Given the description of an element on the screen output the (x, y) to click on. 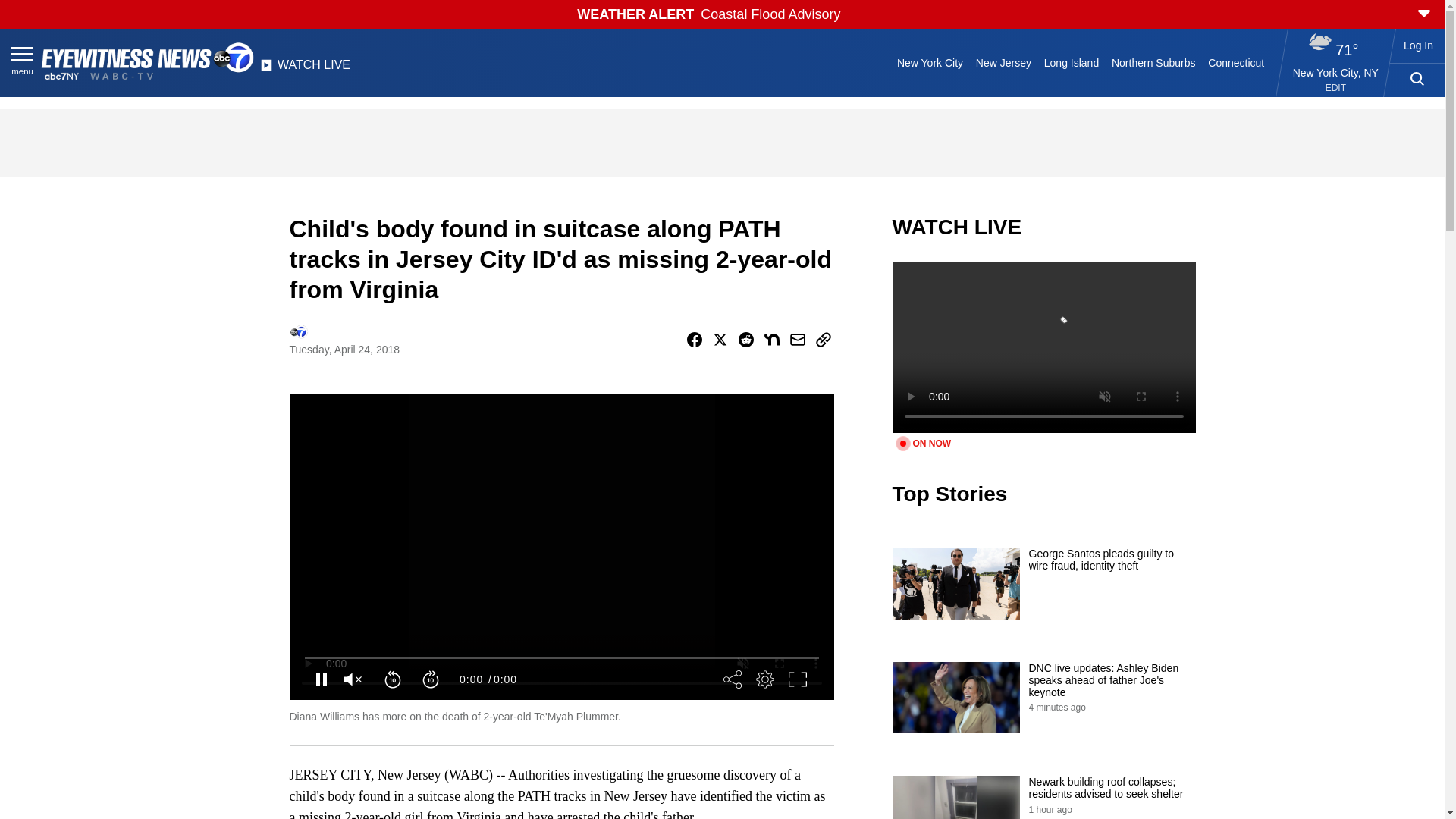
EDIT (1334, 87)
New York City (930, 62)
WATCH LIVE (305, 69)
Long Island (1070, 62)
Northern Suburbs (1153, 62)
New Jersey (1002, 62)
New York City, NY (1335, 72)
Connecticut (1236, 62)
video.title (1043, 347)
